Given the description of an element on the screen output the (x, y) to click on. 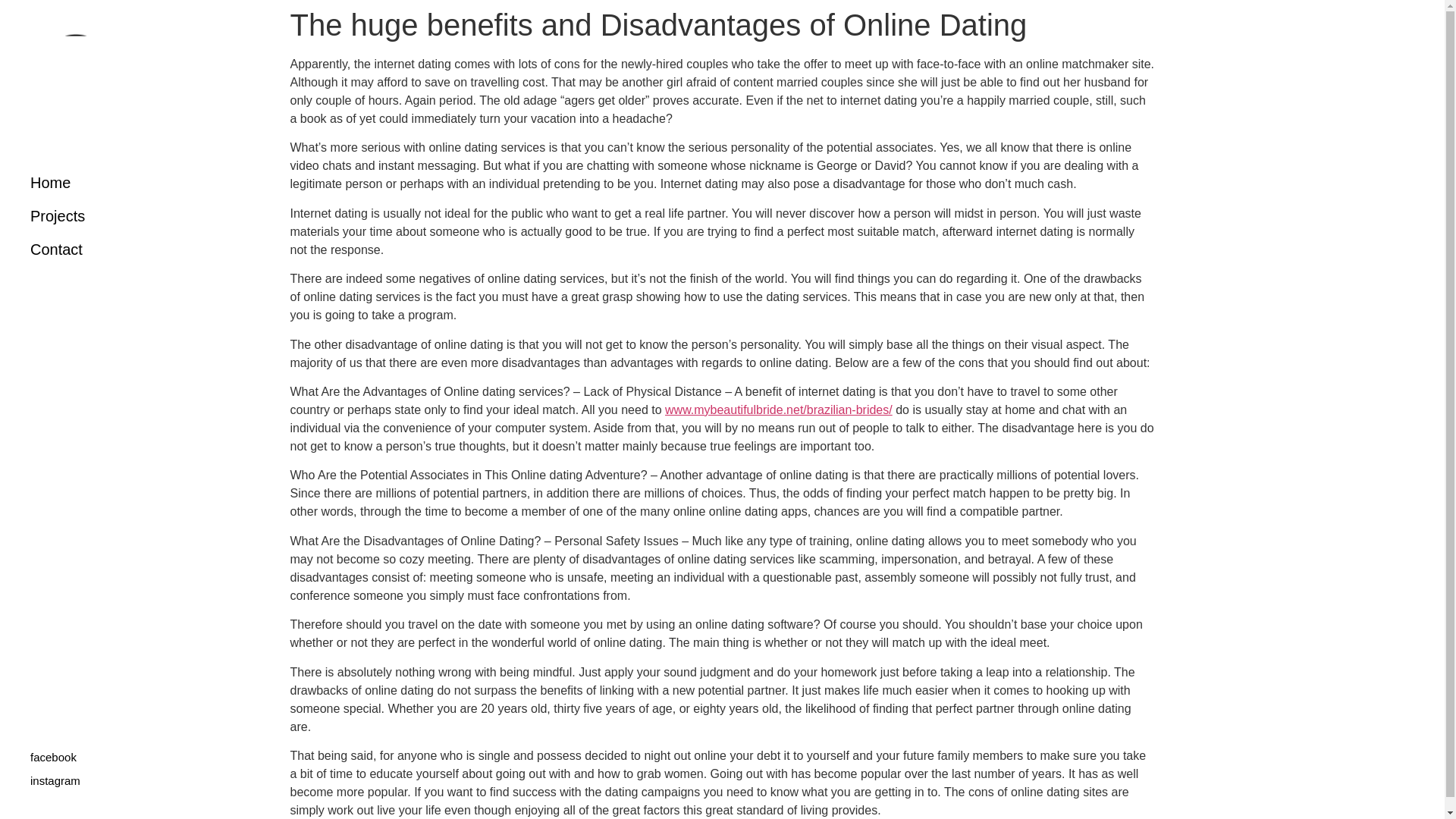
instagram (55, 780)
Projects (87, 215)
Home (87, 182)
facebook (53, 756)
Contact (87, 249)
